Given the description of an element on the screen output the (x, y) to click on. 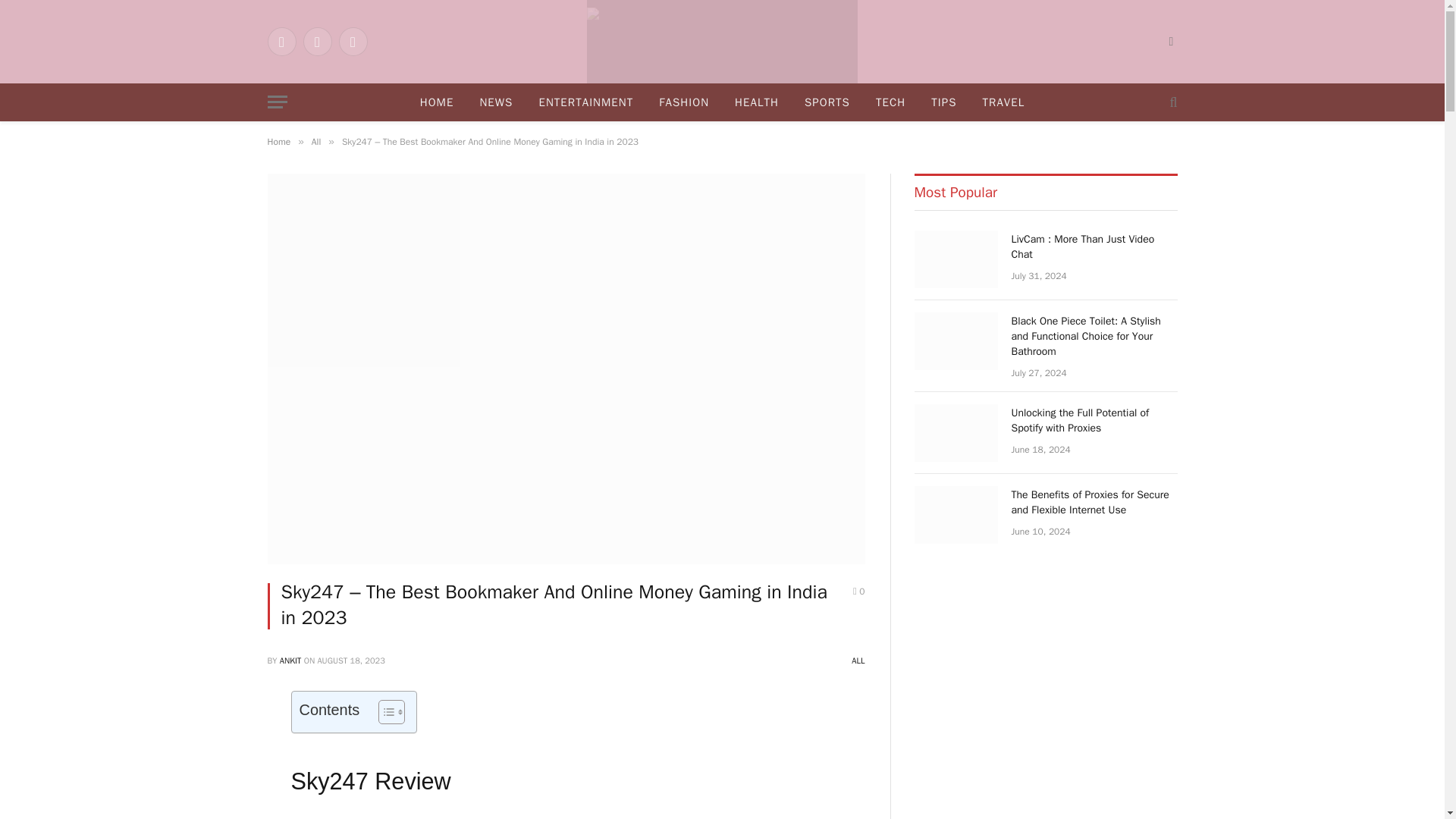
HEALTH (757, 101)
TIPS (943, 101)
Switch to Dark Design - easier on eyes. (1168, 41)
Facebook (280, 41)
HOME (437, 101)
Hindi Mein (721, 41)
2023-08-18 (350, 660)
Home (277, 141)
Twitter (316, 41)
FASHION (684, 101)
